Given the description of an element on the screen output the (x, y) to click on. 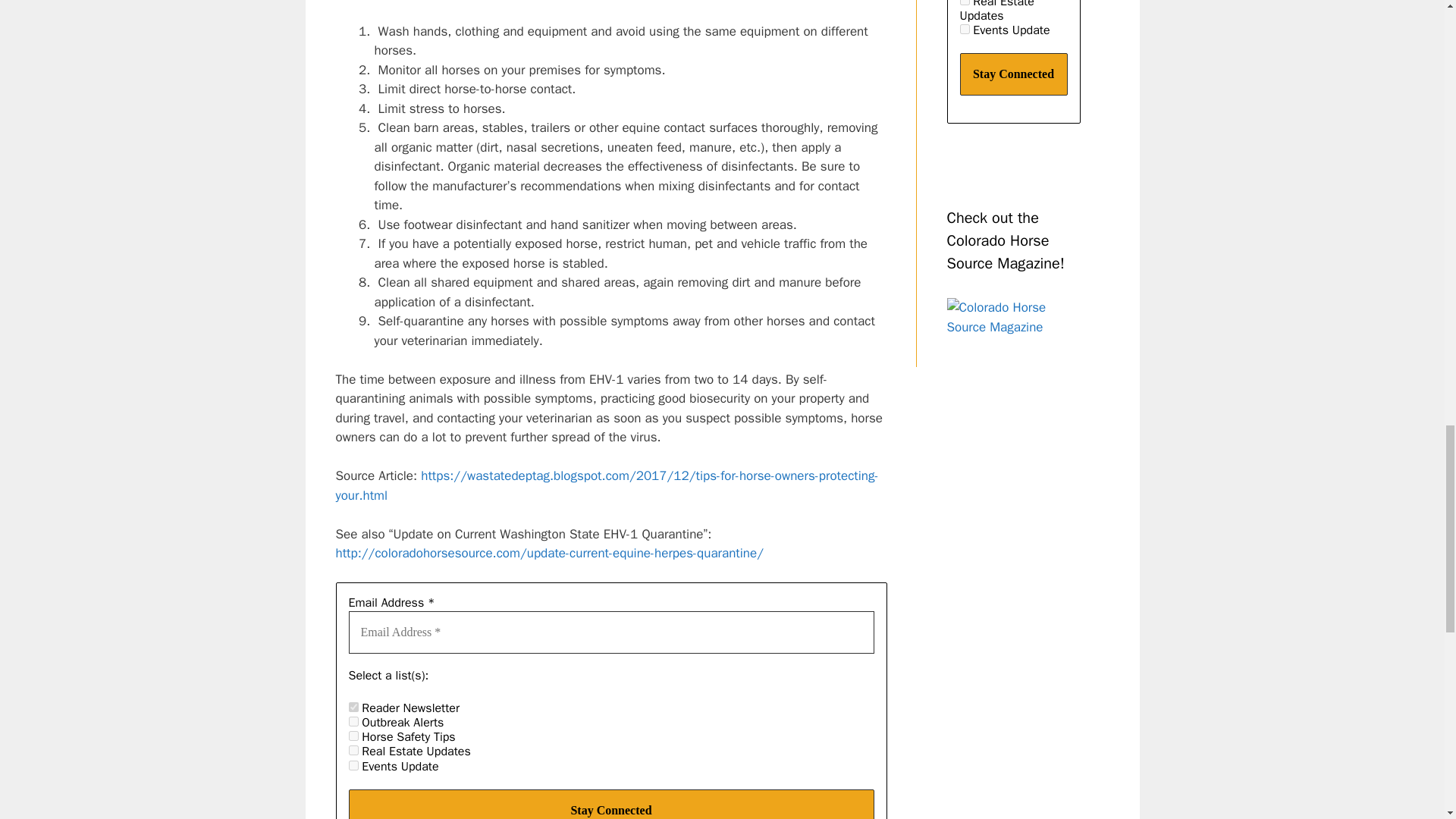
18 (353, 721)
14 (353, 736)
17 (353, 706)
16 (964, 2)
Email Address (612, 631)
19 (964, 29)
19 (353, 765)
Stay Connected (612, 804)
Stay Connected (1013, 74)
16 (353, 750)
